Given the description of an element on the screen output the (x, y) to click on. 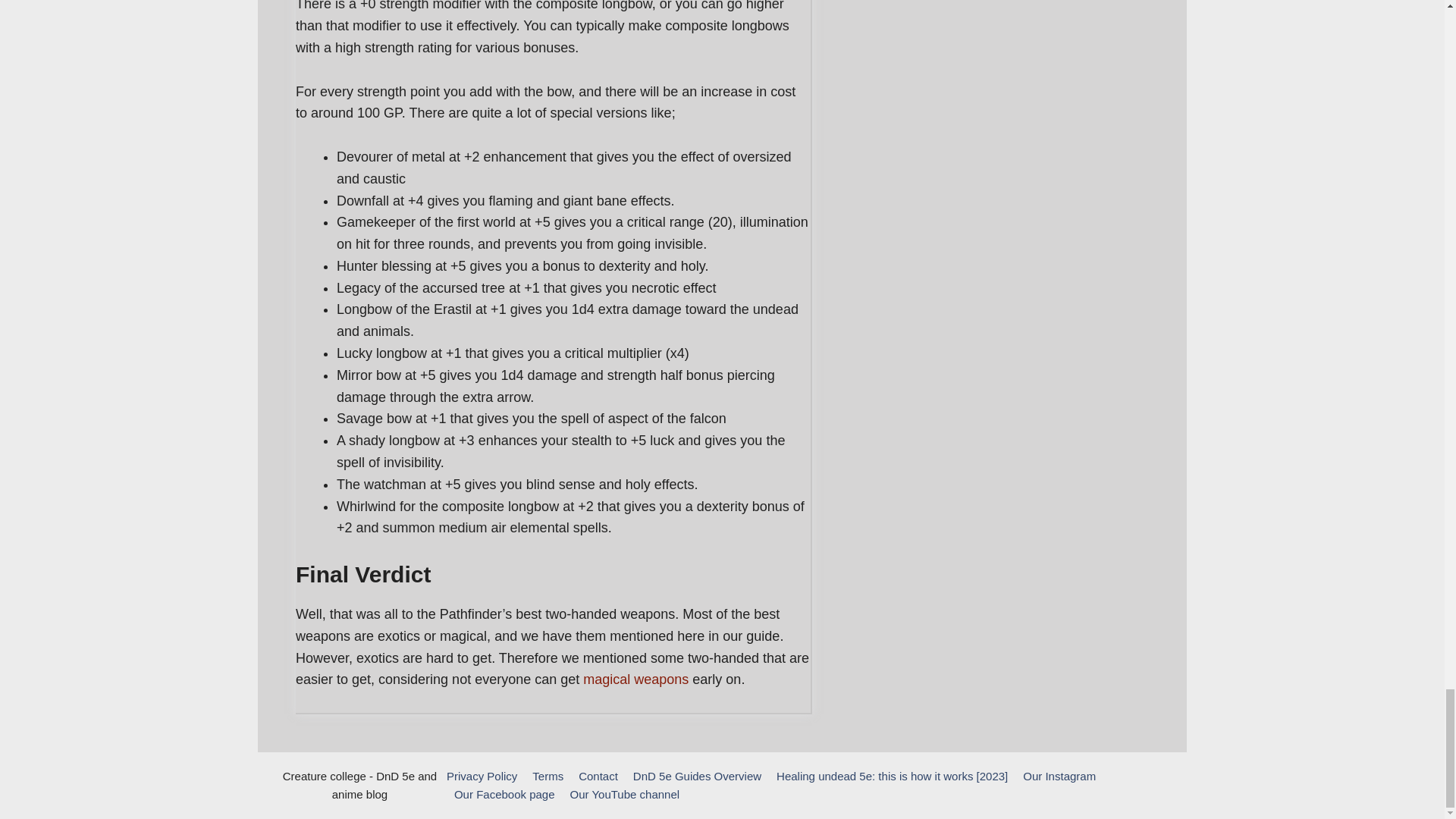
Privacy Policy (481, 775)
DnD 5e Guides Overview (697, 775)
magical weapons (633, 679)
Terms (547, 775)
Our Instagram (1059, 775)
Contact (597, 775)
